Given the description of an element on the screen output the (x, y) to click on. 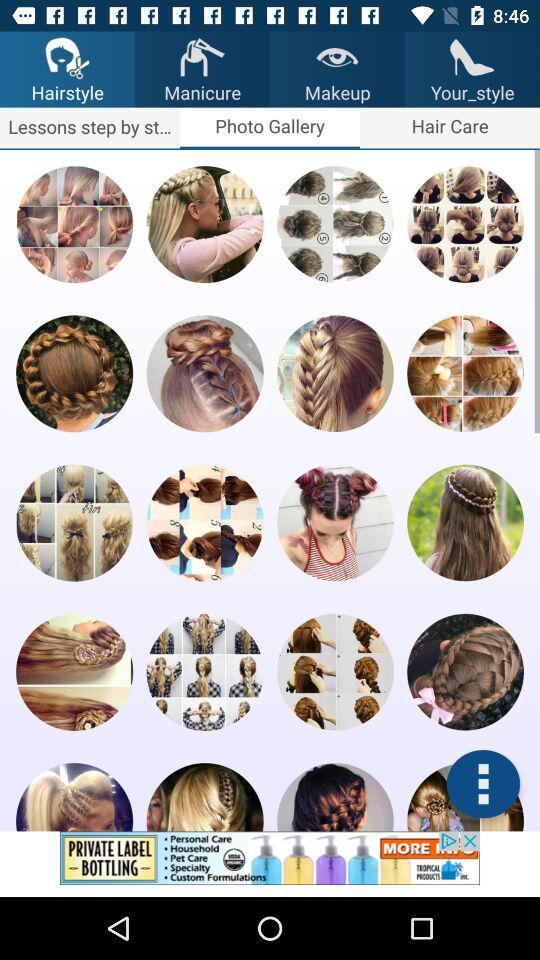
select hair style (74, 671)
